Given the description of an element on the screen output the (x, y) to click on. 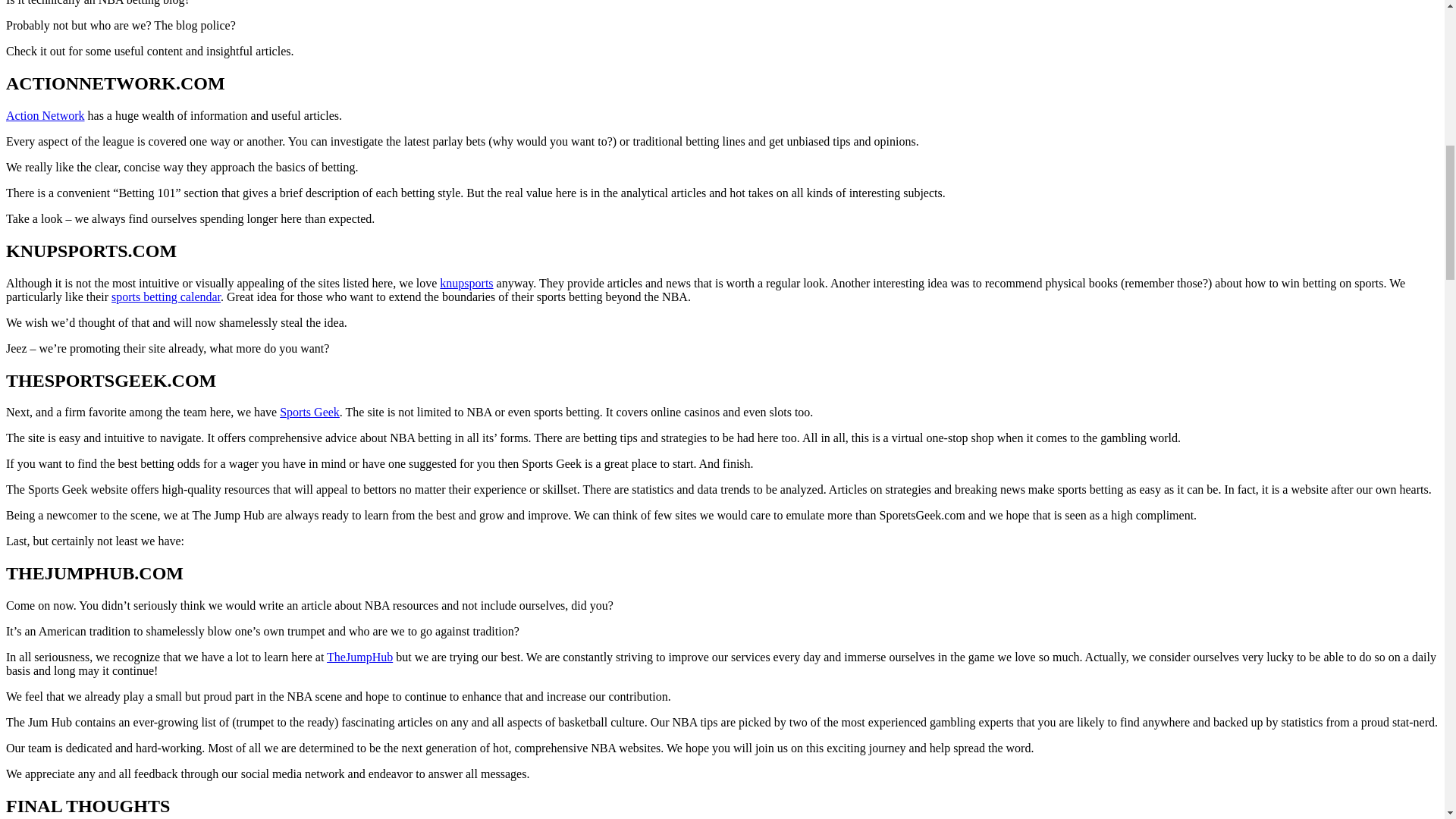
sports betting calendar (166, 296)
TheJumpHub (359, 656)
Action Network (44, 115)
Sports Geek (309, 411)
knupsports (466, 282)
